Given the description of an element on the screen output the (x, y) to click on. 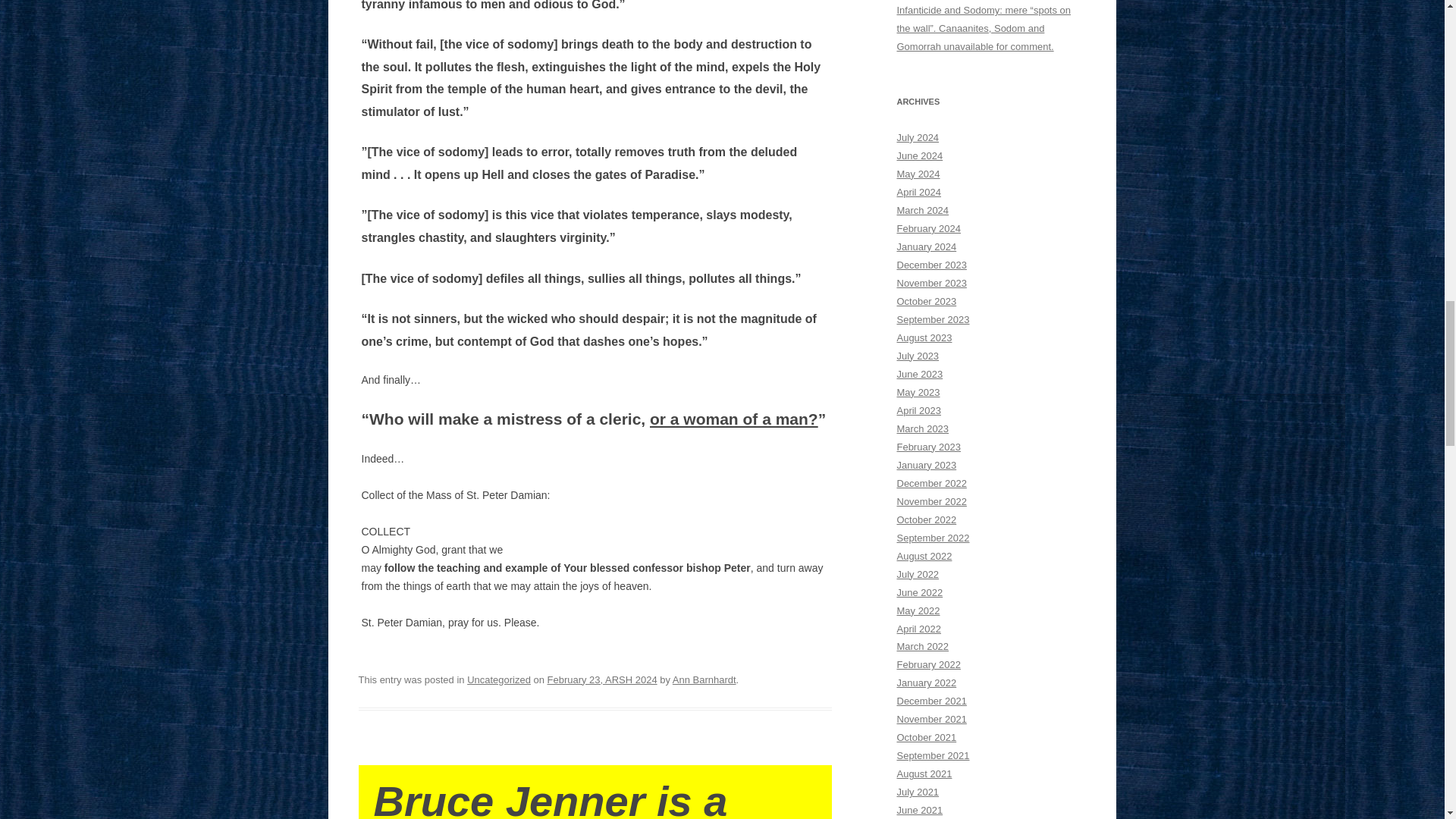
March 2024 (922, 210)
June 2024 (919, 155)
February 2024 (927, 228)
View all posts by Ann Barnhardt (704, 679)
Ann Barnhardt (704, 679)
January 2024 (926, 246)
Uncategorized (499, 679)
February 23, ARSH 2024 (602, 679)
1:46 am (602, 679)
May 2024 (917, 173)
December 2023 (931, 265)
July 2024 (917, 137)
April 2024 (918, 192)
